Given the description of an element on the screen output the (x, y) to click on. 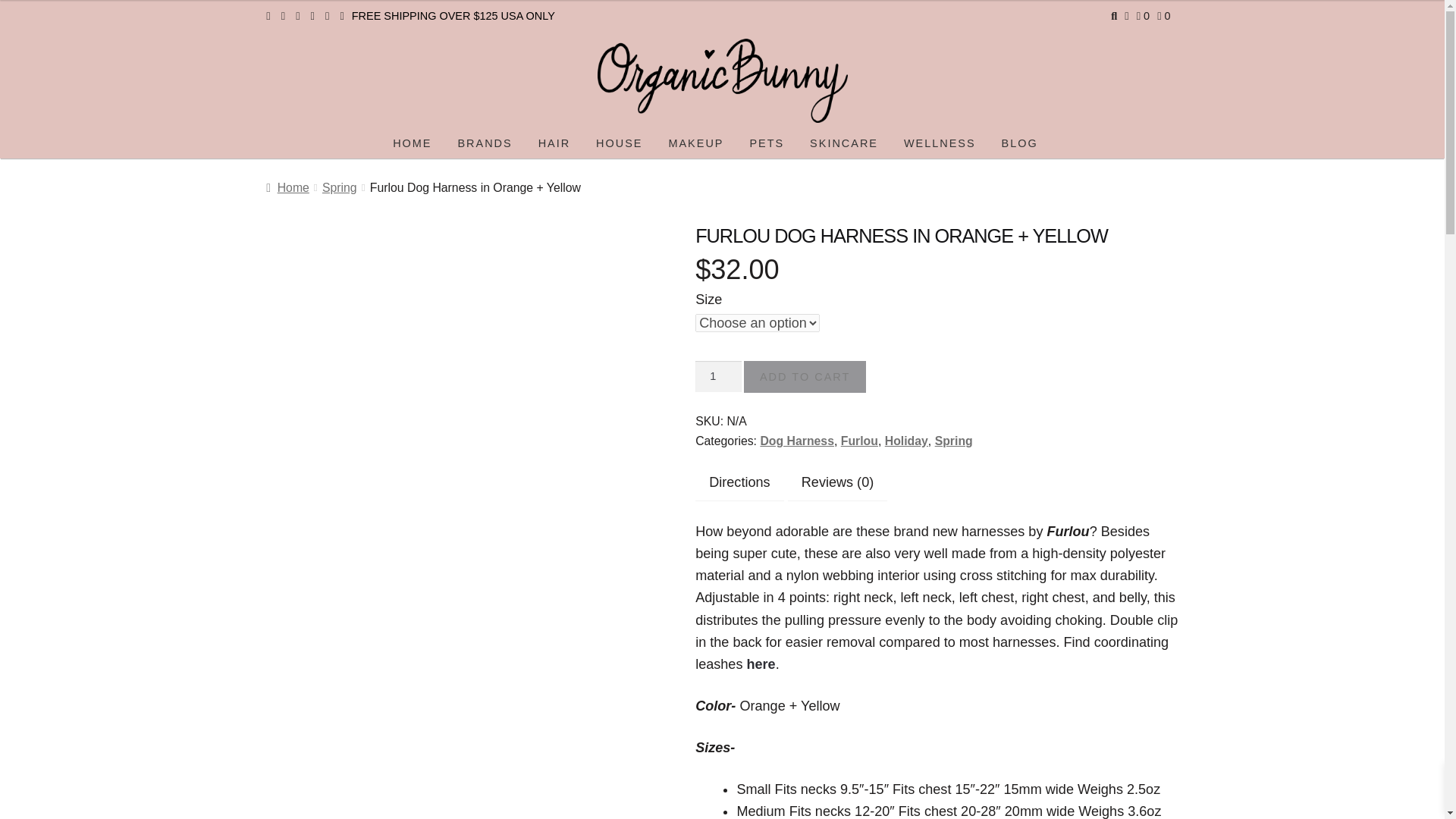
0 (1163, 15)
1 (718, 376)
View your shopping cart (1163, 15)
0 (1143, 15)
BRANDS (484, 143)
HOME (411, 143)
